Given the description of an element on the screen output the (x, y) to click on. 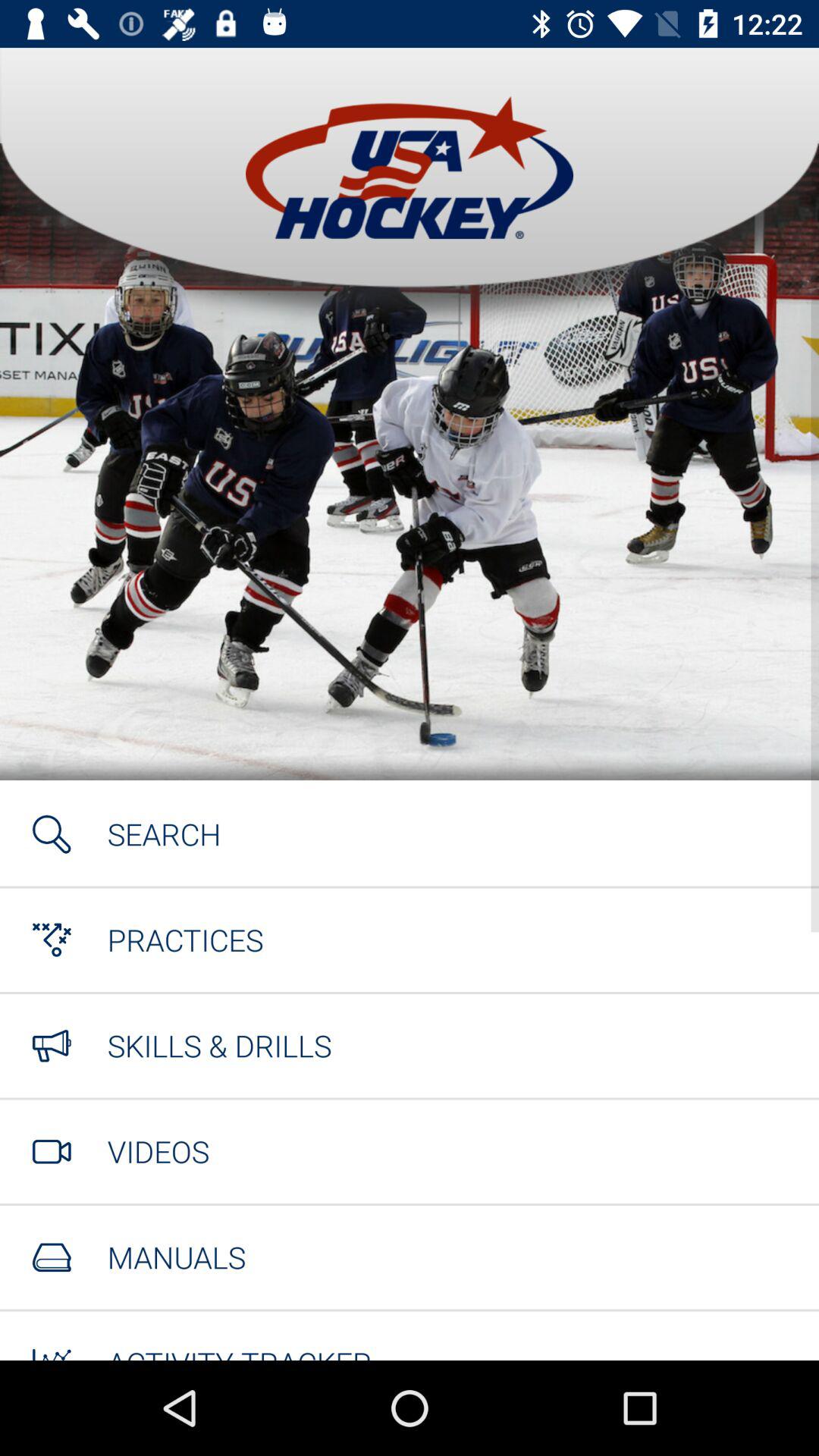
scroll until manuals item (176, 1257)
